Given the description of an element on the screen output the (x, y) to click on. 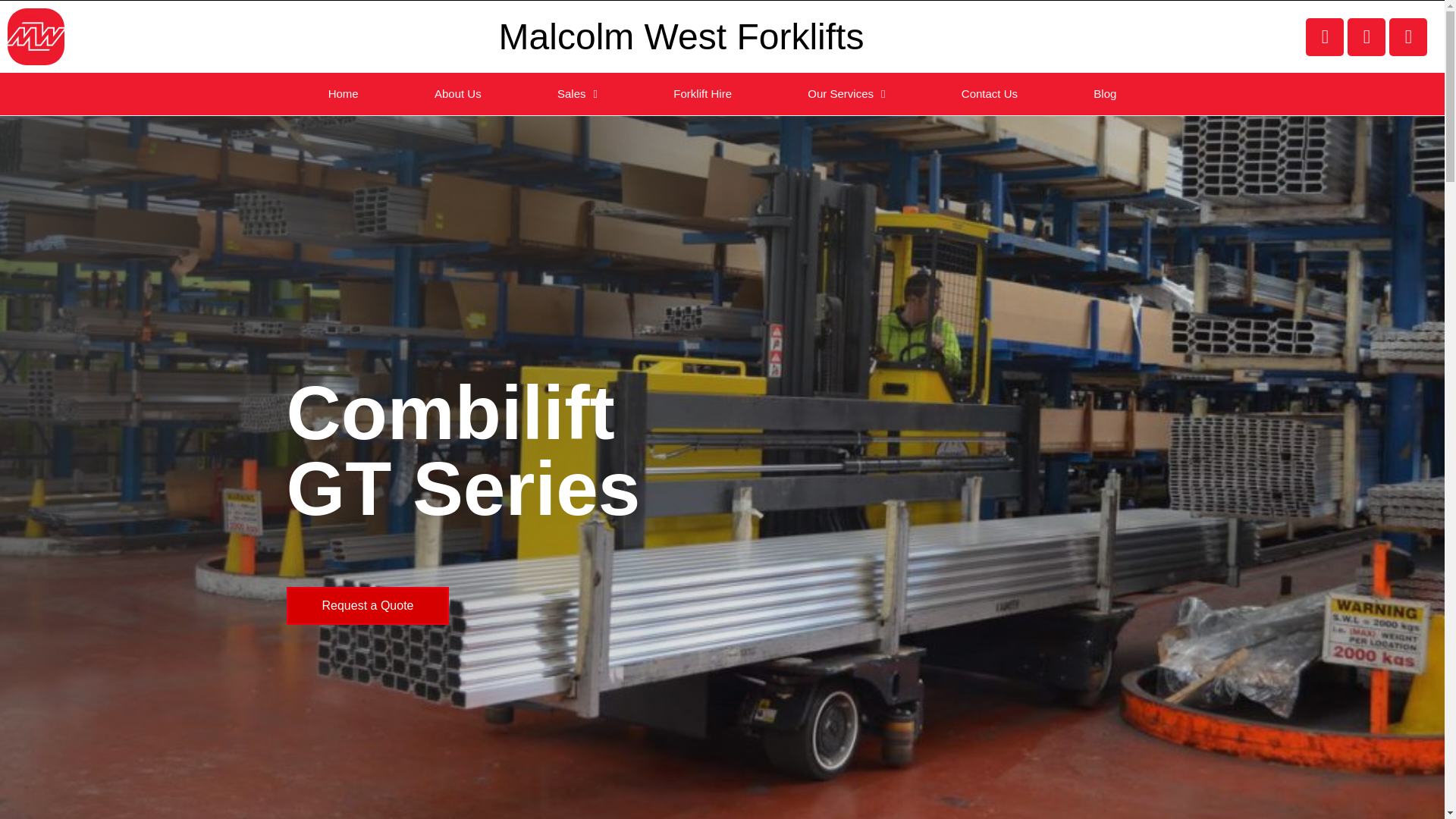
About Us (457, 93)
Contact Us (990, 93)
Our Services (846, 93)
Blog (1104, 93)
Forklift Hire (702, 93)
Sales (576, 93)
Home (342, 93)
